Given the description of an element on the screen output the (x, y) to click on. 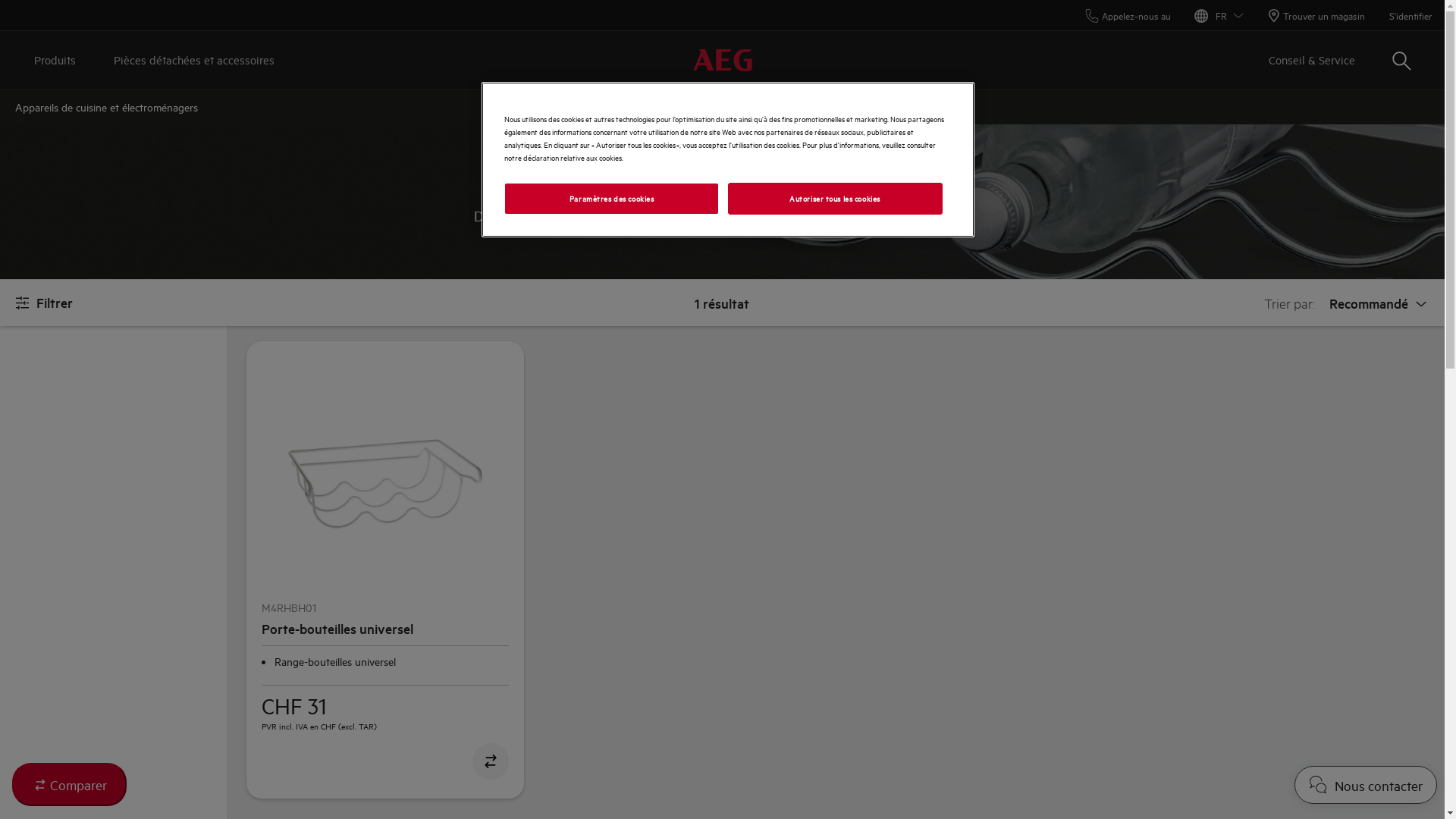
Appelez-nous au Element type: text (1127, 15)
Filtrer Element type: text (43, 302)
Comparer Element type: text (69, 784)
Autoriser tous les cookies Element type: text (835, 198)
Trouver un magasin Element type: text (1316, 15)
Conseil & Service Element type: text (1311, 60)
S'identifier Element type: text (1410, 15)
Nous contacter Element type: text (1365, 784)
FR Element type: text (1219, 15)
Produits Element type: text (54, 60)
Rechercher Element type: text (1401, 60)
